Given the description of an element on the screen output the (x, y) to click on. 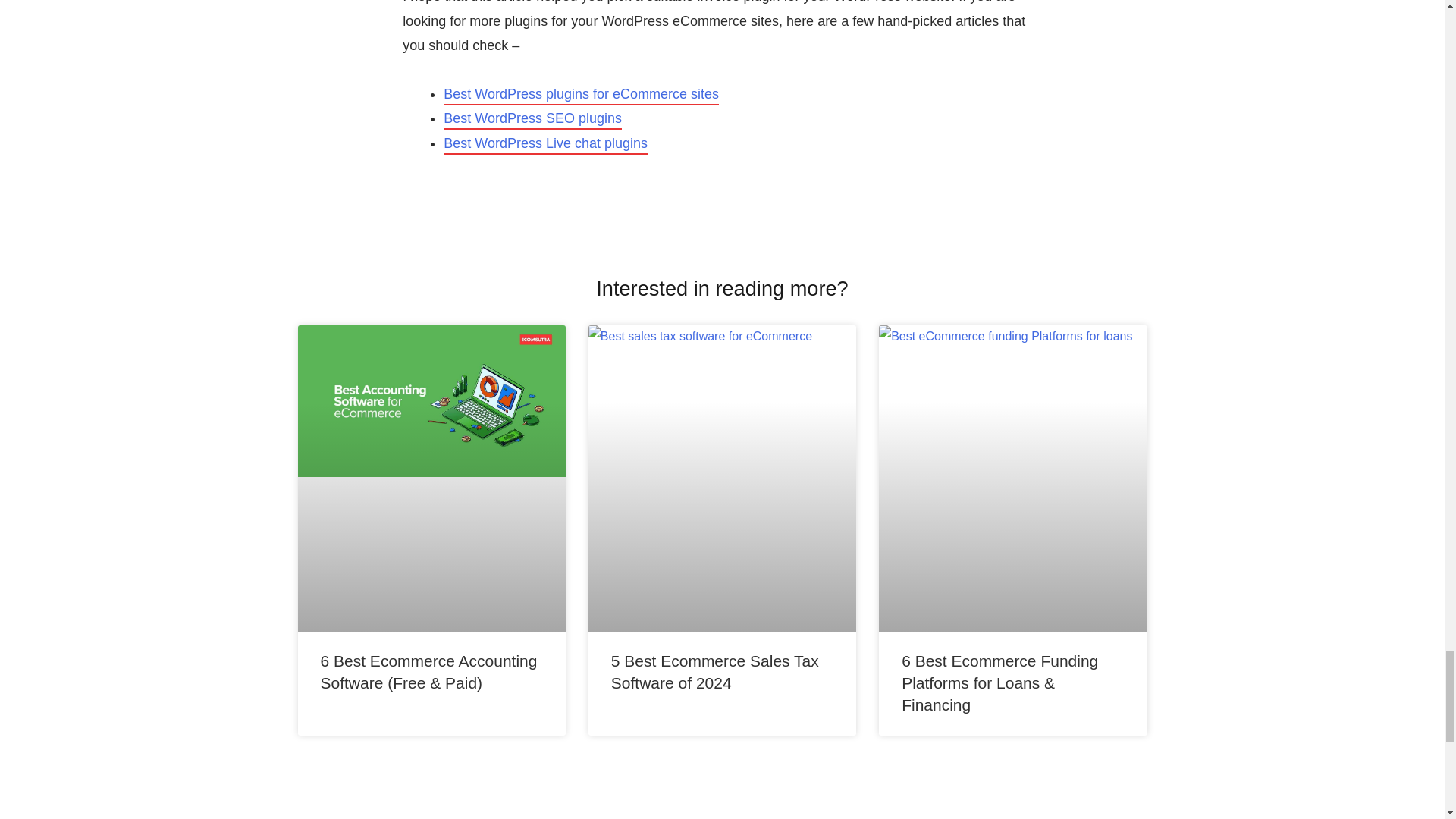
Best WordPress Live chat plugins (545, 144)
Best WordPress plugins for eCommerce sites (581, 95)
5 Best Ecommerce Sales Tax Software of 2024 (714, 671)
Best WordPress SEO plugins (532, 119)
